Given the description of an element on the screen output the (x, y) to click on. 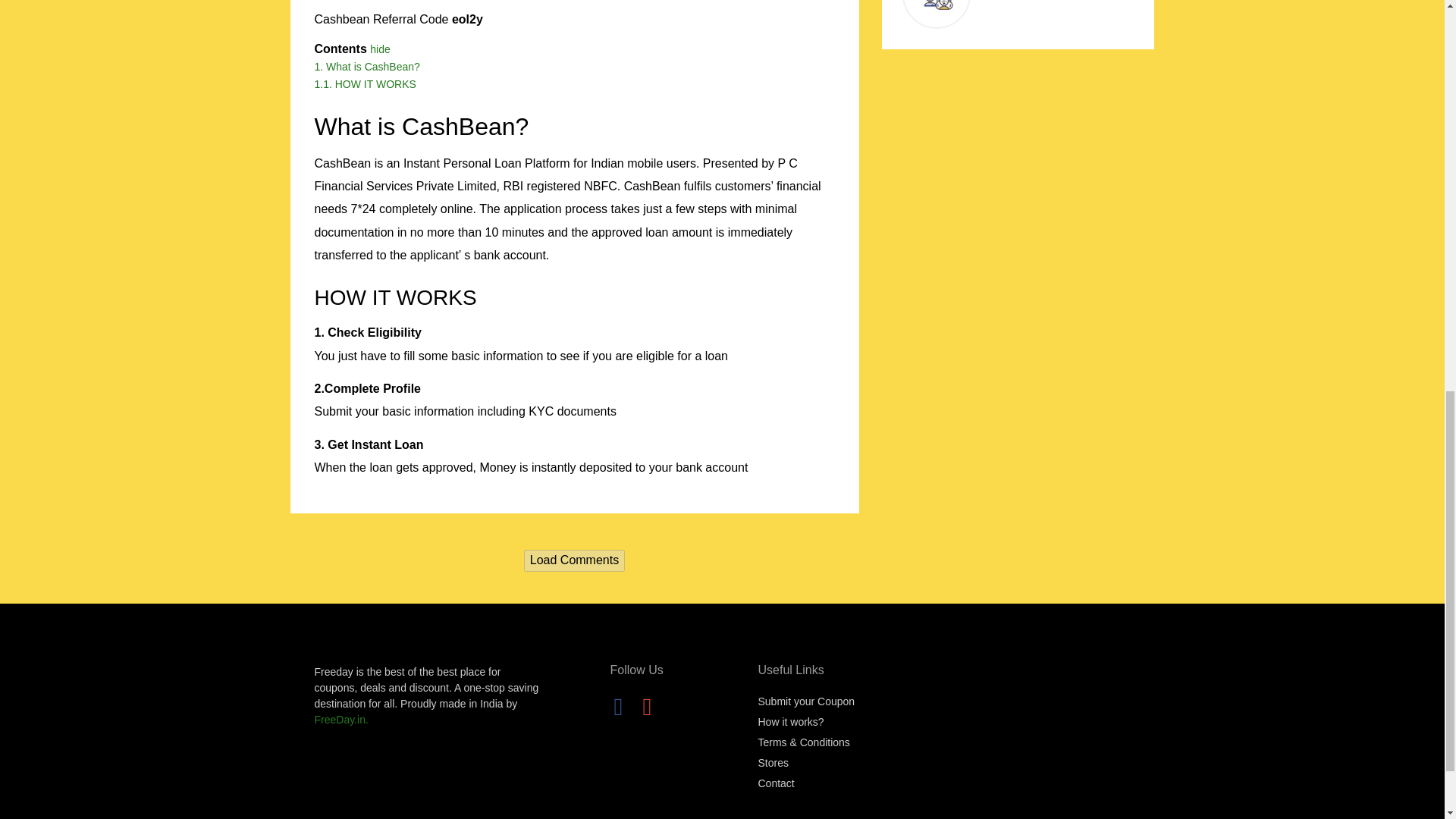
1. What is CashBean? (366, 66)
hide (379, 49)
